Given the description of an element on the screen output the (x, y) to click on. 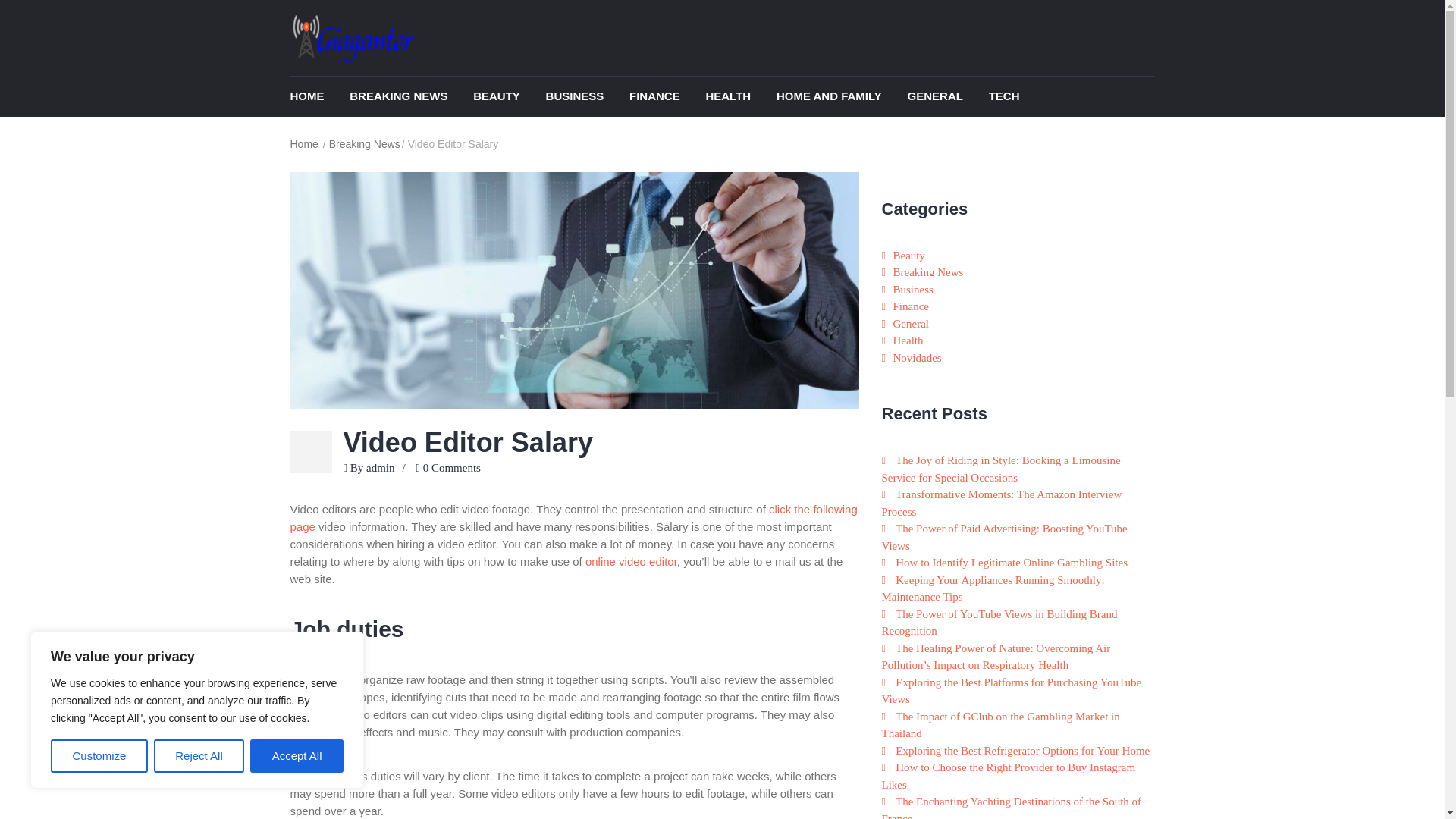
BREAKING NEWS (409, 96)
Finance (665, 96)
BUSINESS (586, 96)
online video editor (631, 561)
HOME (317, 96)
GENERAL (946, 96)
BEAUTY (508, 96)
Tech (1015, 96)
Breaking News (364, 143)
Home (304, 143)
General (946, 96)
Home (317, 96)
HOME AND FAMILY (840, 96)
Customize (99, 756)
Finance (910, 306)
